Given the description of an element on the screen output the (x, y) to click on. 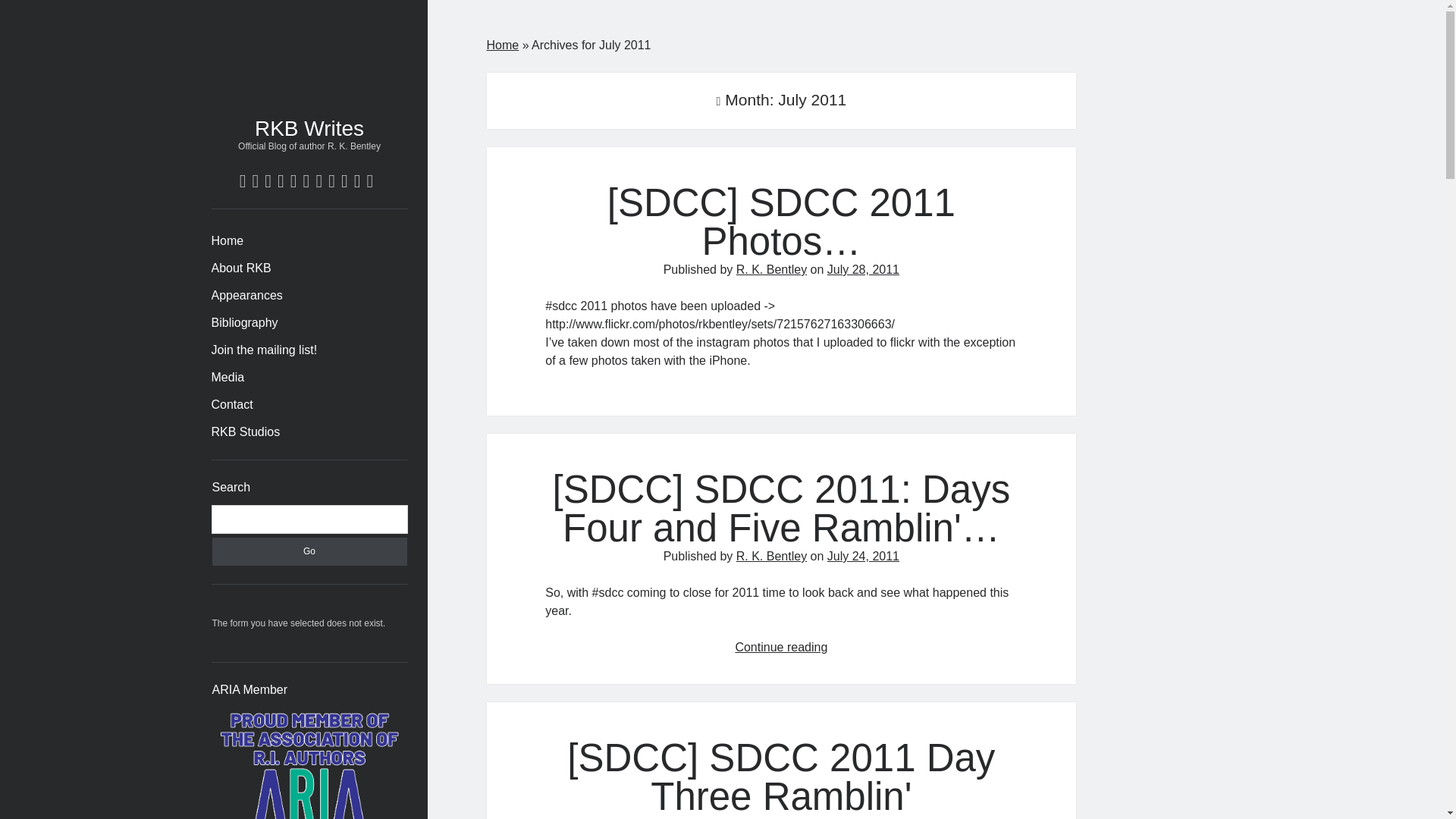
Bibliography (244, 322)
About RKB (240, 268)
Media (227, 377)
Join the mailing list! (264, 350)
Appearances (246, 295)
Go (309, 551)
Search for: (309, 519)
Home (227, 240)
RKB Studios (245, 432)
Go (309, 551)
